Given the description of an element on the screen output the (x, y) to click on. 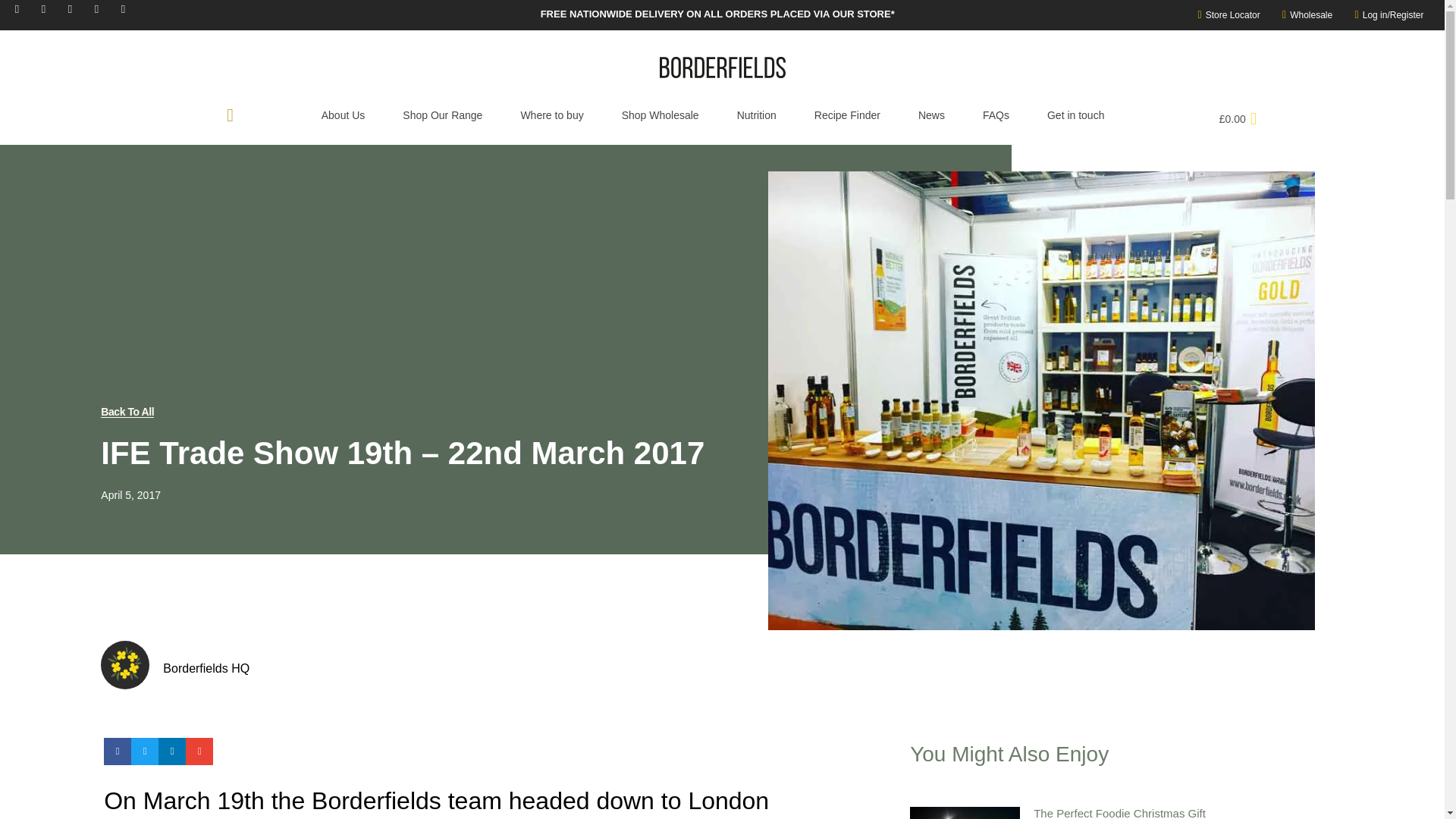
Nutrition (756, 115)
FAQs (995, 115)
About Us (343, 115)
Shop Our Range (442, 115)
Store Locator (1224, 14)
Wholesale (1302, 14)
Shop Wholesale (659, 115)
Where to buy (551, 115)
Get in touch (1075, 115)
Recipe Finder (846, 115)
